Given the description of an element on the screen output the (x, y) to click on. 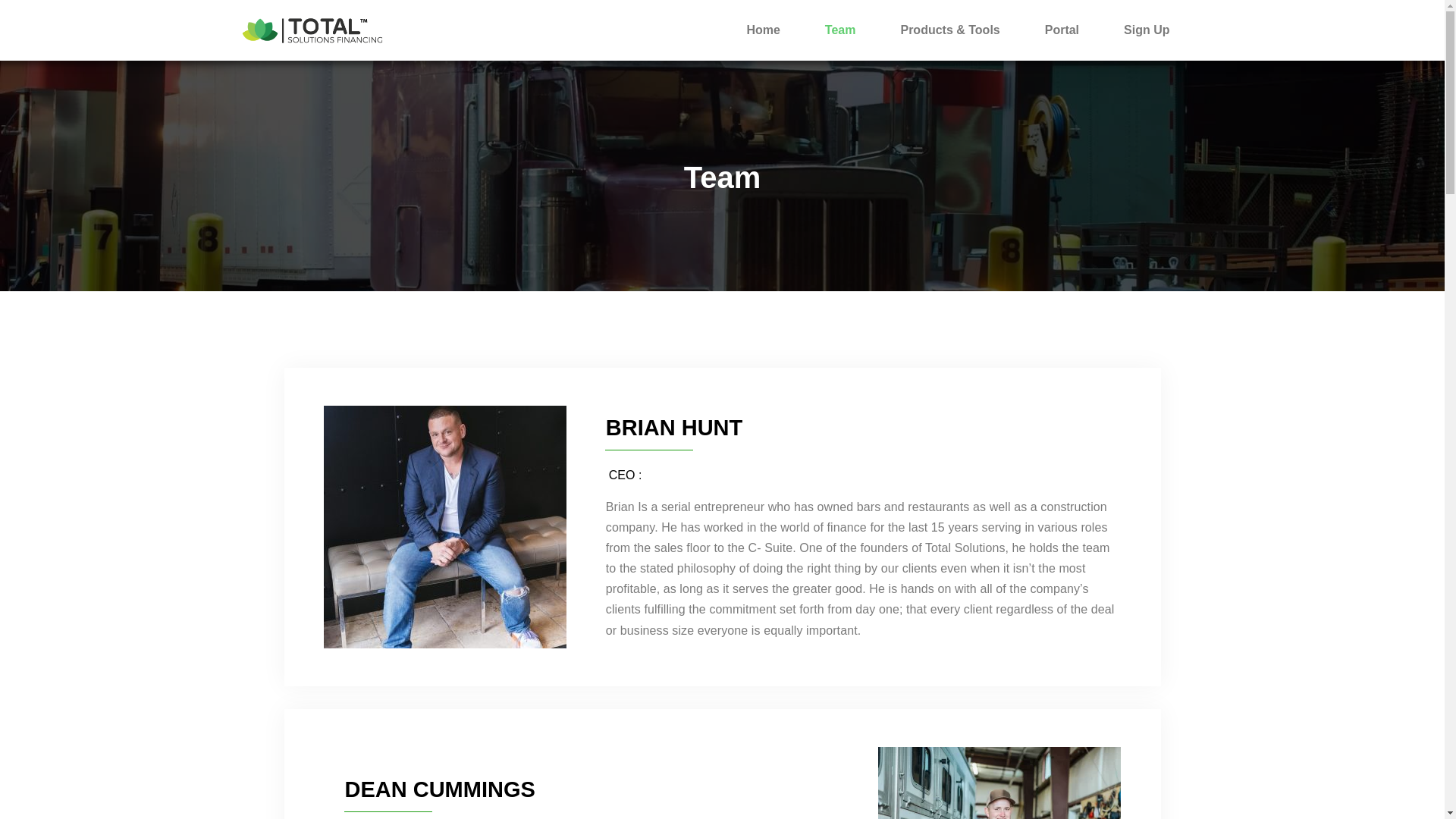
iStock-1044927336 (999, 782)
Team (840, 30)
Portal (1061, 30)
Home (762, 30)
Brian Hunt (444, 526)
Sign Up (1146, 30)
